Given the description of an element on the screen output the (x, y) to click on. 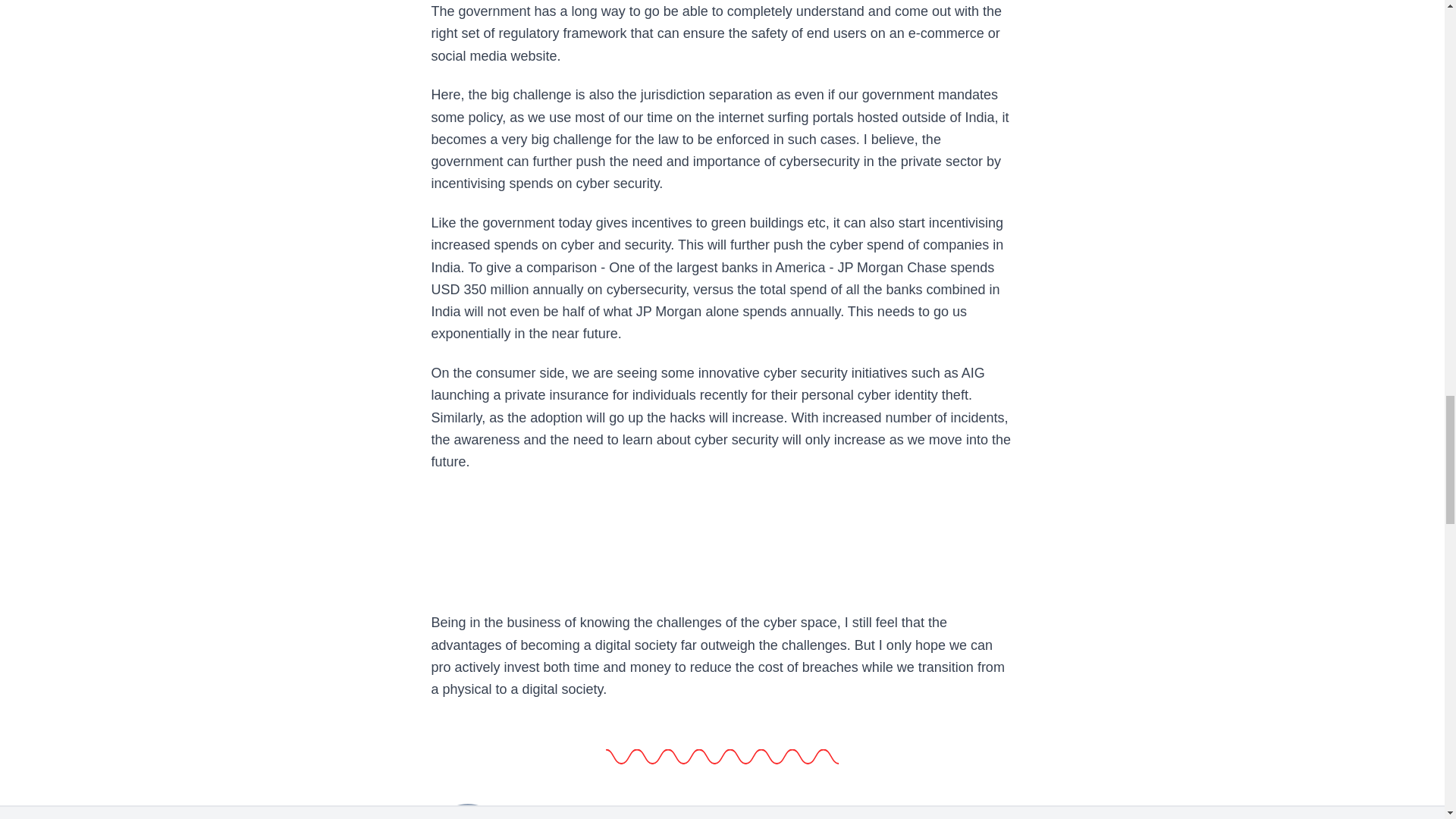
Saket Modi (466, 809)
